Given the description of an element on the screen output the (x, y) to click on. 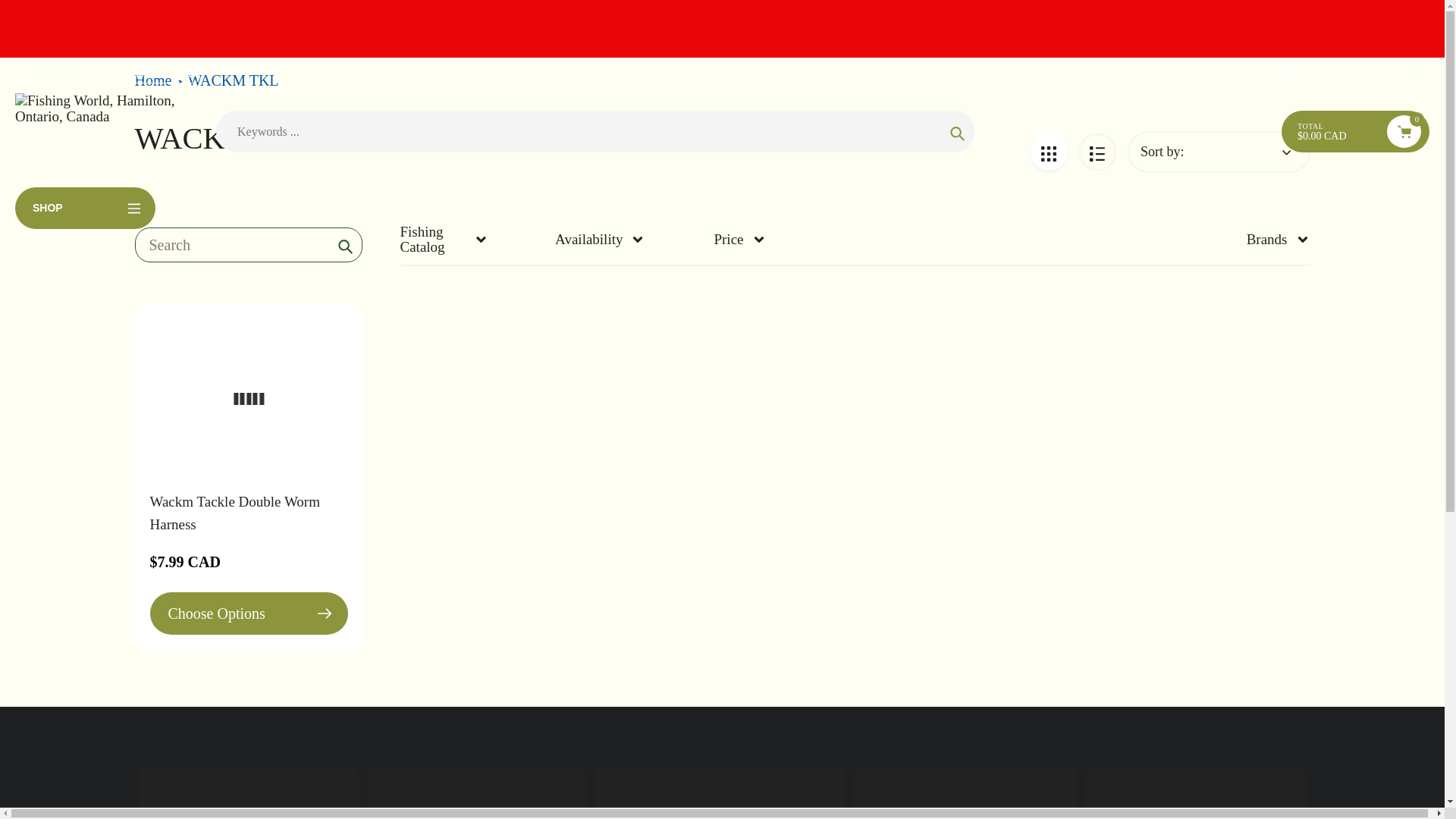
TACKLE (893, 194)
0 (1404, 131)
SHOP (84, 208)
NEW ARRIVALS AND RESTOCKS (448, 194)
My Account (1306, 75)
TOM BOLEY WALLEYE COLLECTION (707, 194)
